Given the description of an element on the screen output the (x, y) to click on. 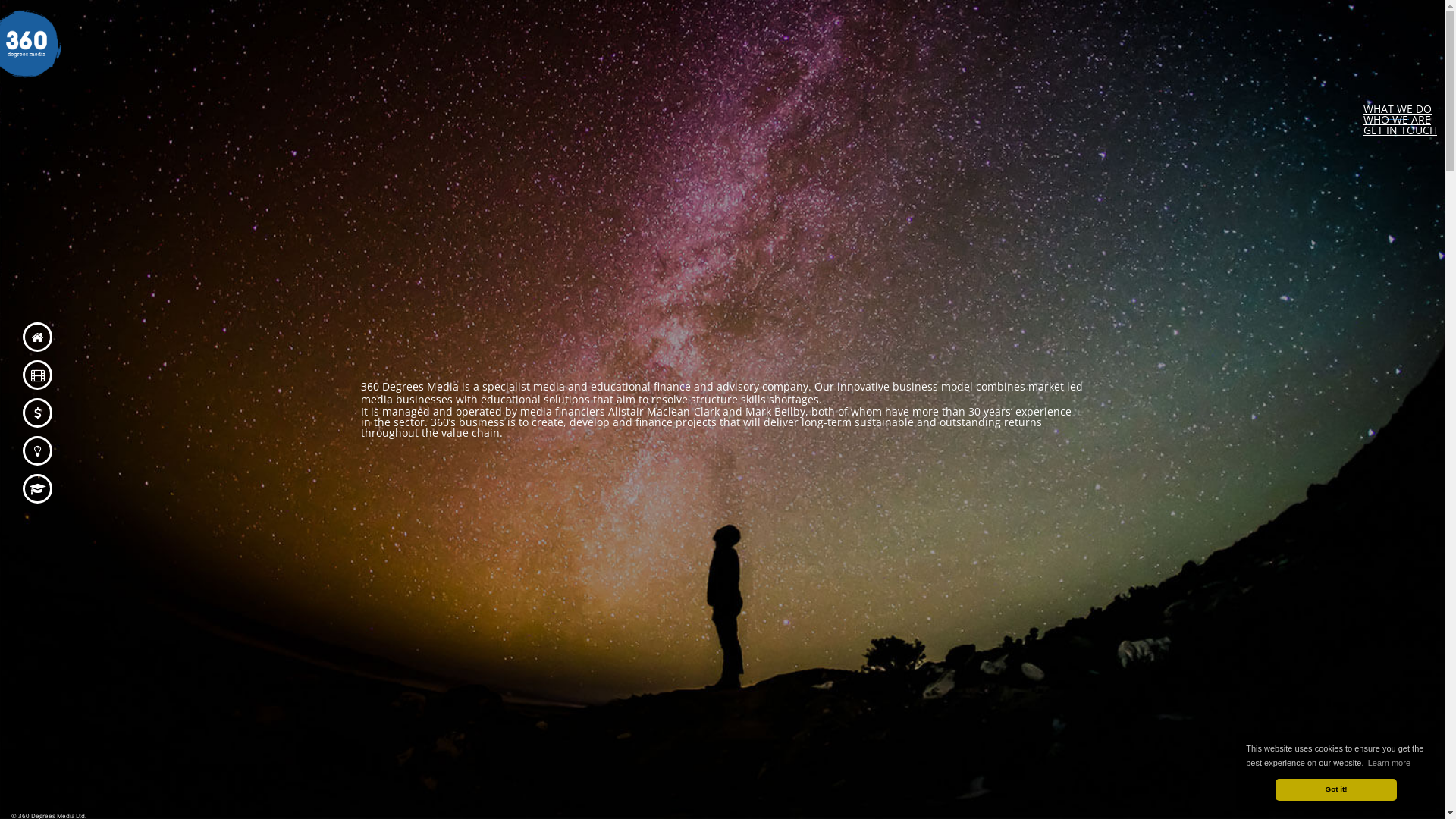
GET IN TOUCH Element type: text (1400, 129)
WHO WE ARE Element type: text (1396, 119)
Learn more Element type: text (1389, 763)
WHAT WE DO Element type: text (1397, 108)
Got it! Element type: text (1335, 789)
